Given the description of an element on the screen output the (x, y) to click on. 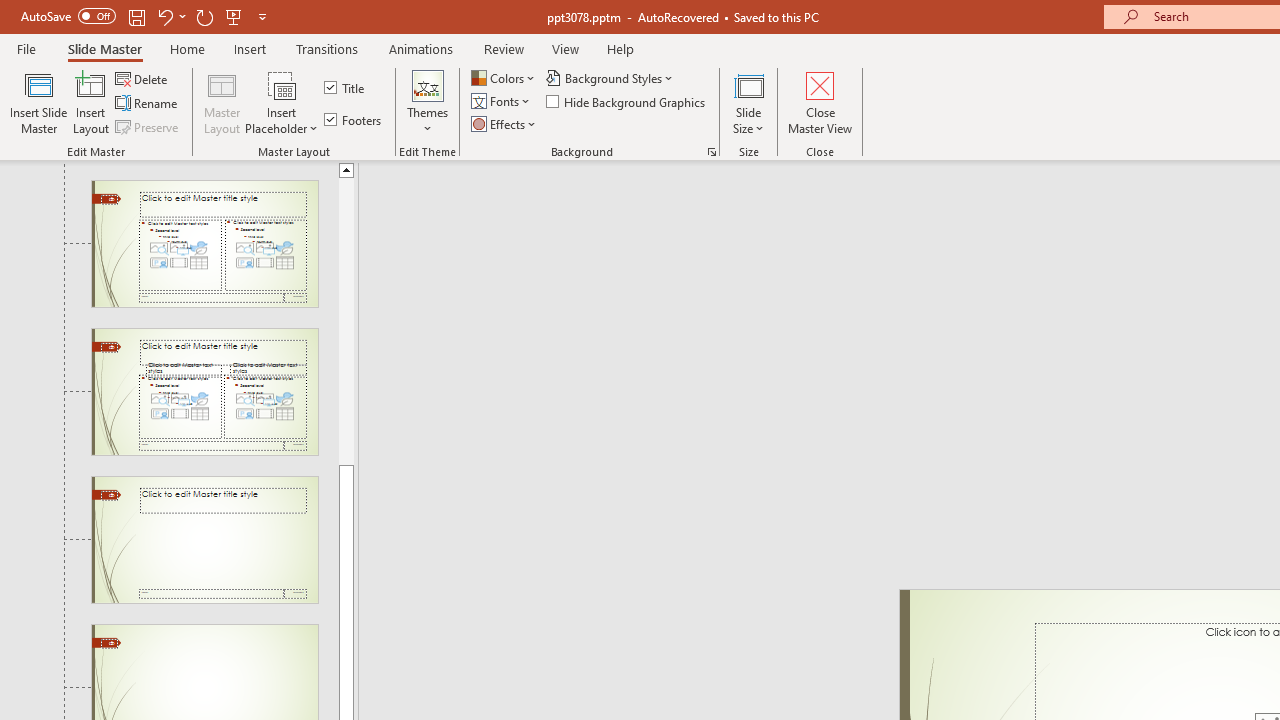
Slide Comparison Layout: used by no slides (204, 392)
Background Styles (610, 78)
Preserve (148, 126)
Delete (143, 78)
Slide Master (104, 48)
Content (282, 84)
Slide Two Content Layout: used by no slides (204, 243)
Slide Title Only Layout: used by no slides (204, 539)
Title (346, 87)
Format Background... (711, 151)
Colors (504, 78)
